Given the description of an element on the screen output the (x, y) to click on. 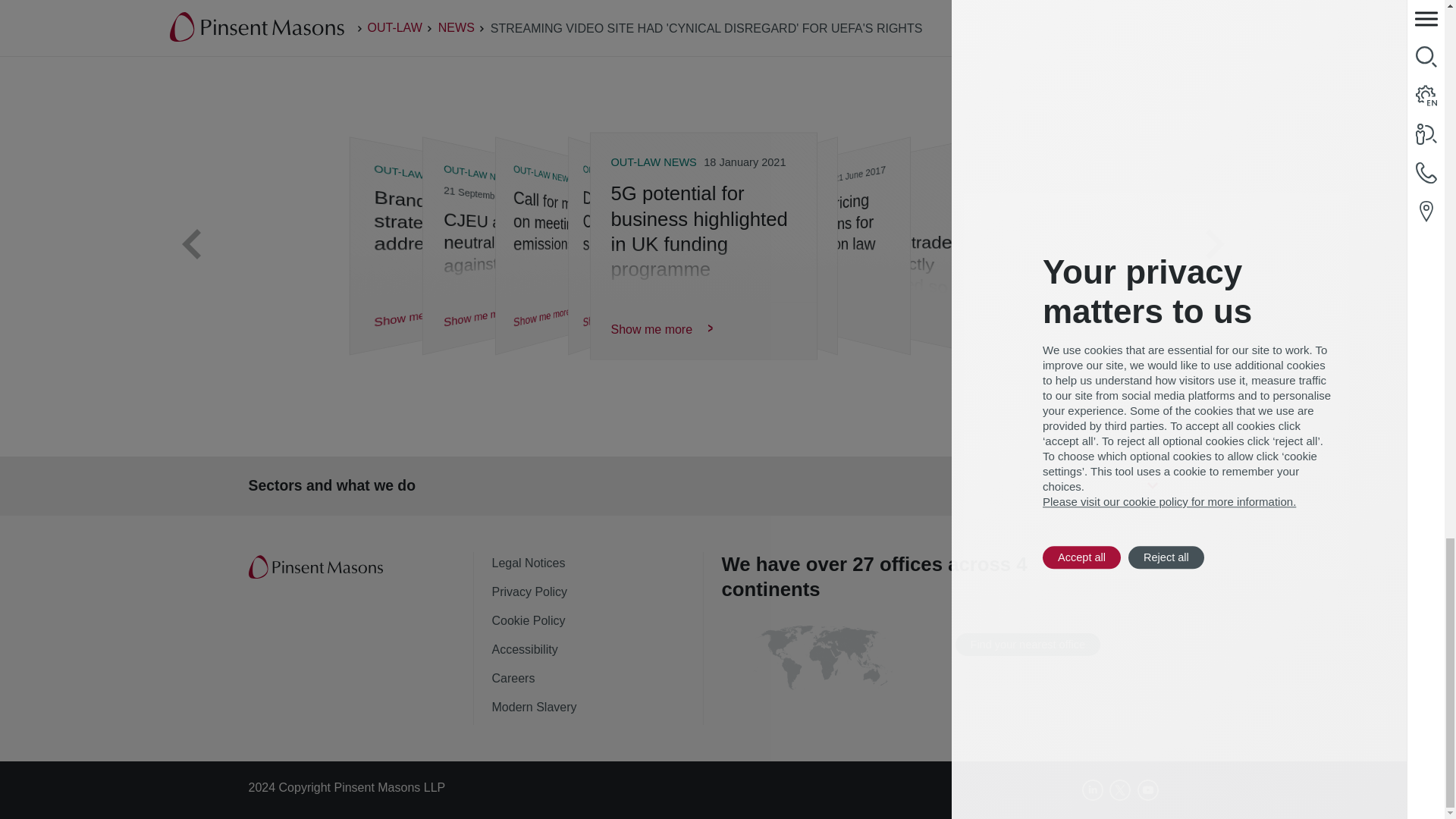
Pinsent Masons LinkedIn (1092, 789)
Pinsent Masons (316, 567)
Pinsent Masons Twitter (1120, 789)
